Given the description of an element on the screen output the (x, y) to click on. 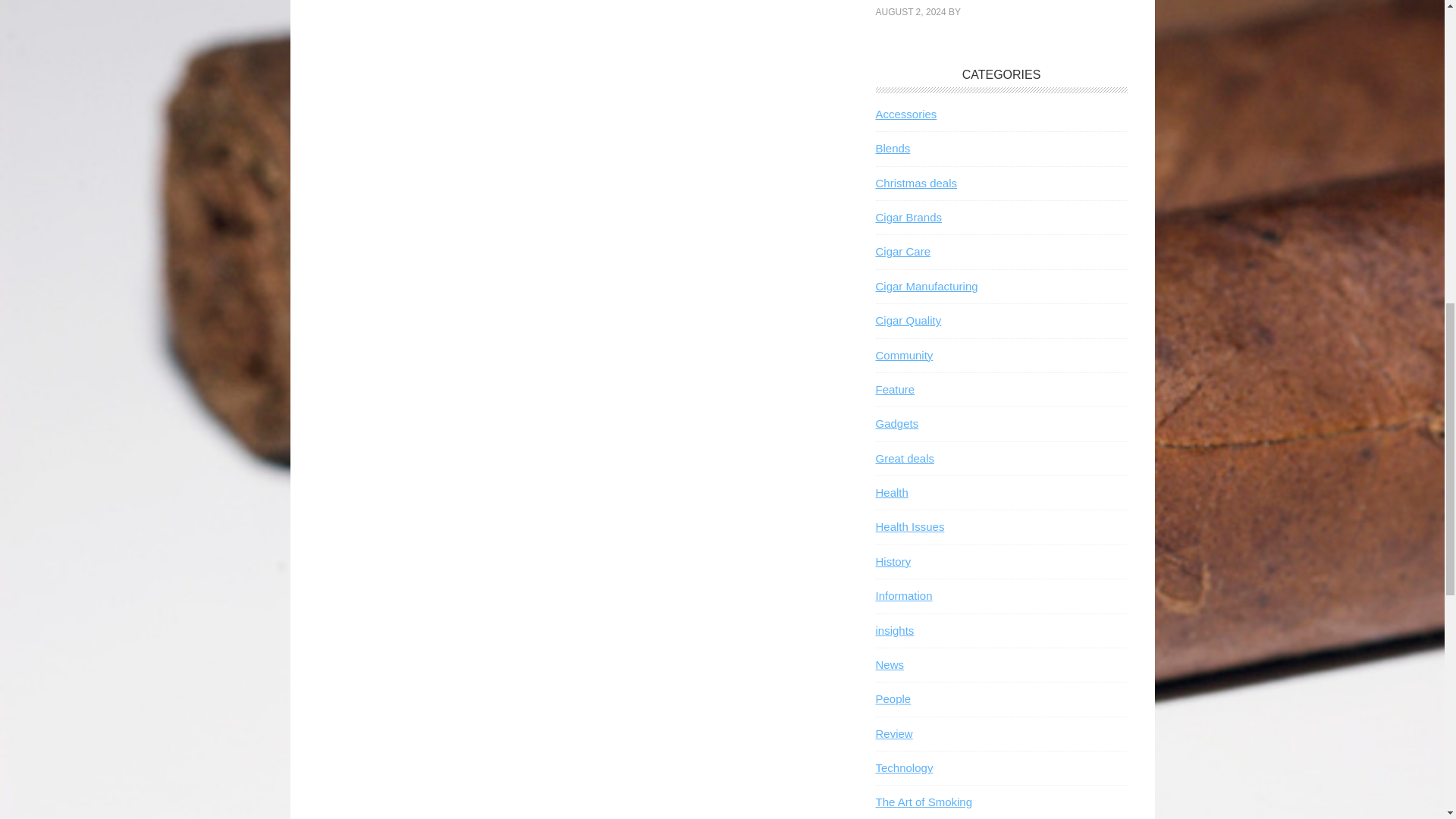
Information (903, 594)
Christmas deals (915, 182)
Technology (904, 767)
The Art of Smoking (923, 801)
Cigar Brands (908, 216)
Great deals (904, 458)
Health (891, 492)
Cigar Care (902, 250)
Cigar Manufacturing (925, 286)
insights (894, 629)
History (893, 561)
People (893, 698)
Gadgets (896, 422)
Community (904, 354)
News (889, 664)
